Given the description of an element on the screen output the (x, y) to click on. 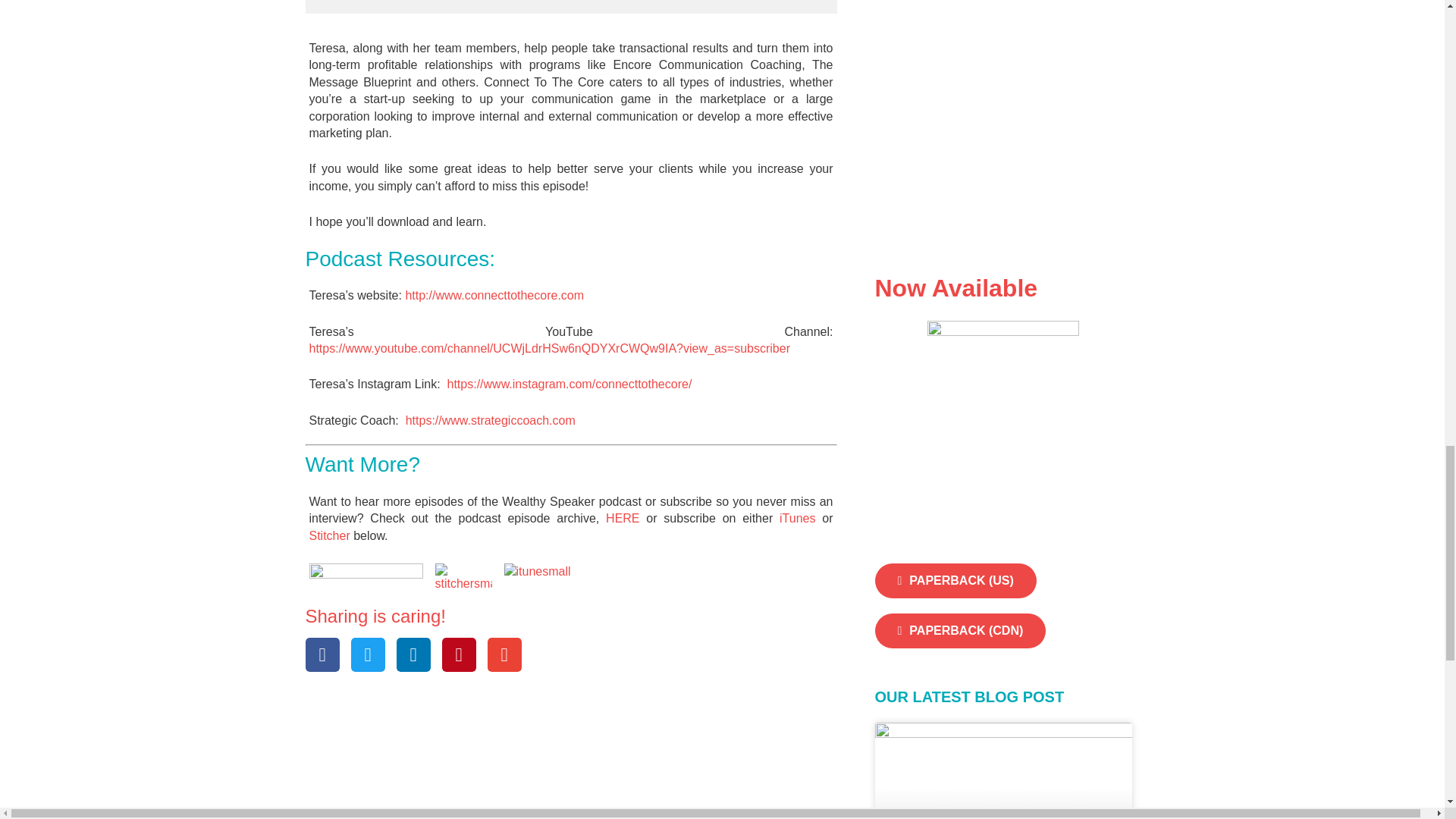
iTunes (796, 517)
Stitcher (329, 535)
HERE (622, 517)
